Given the description of an element on the screen output the (x, y) to click on. 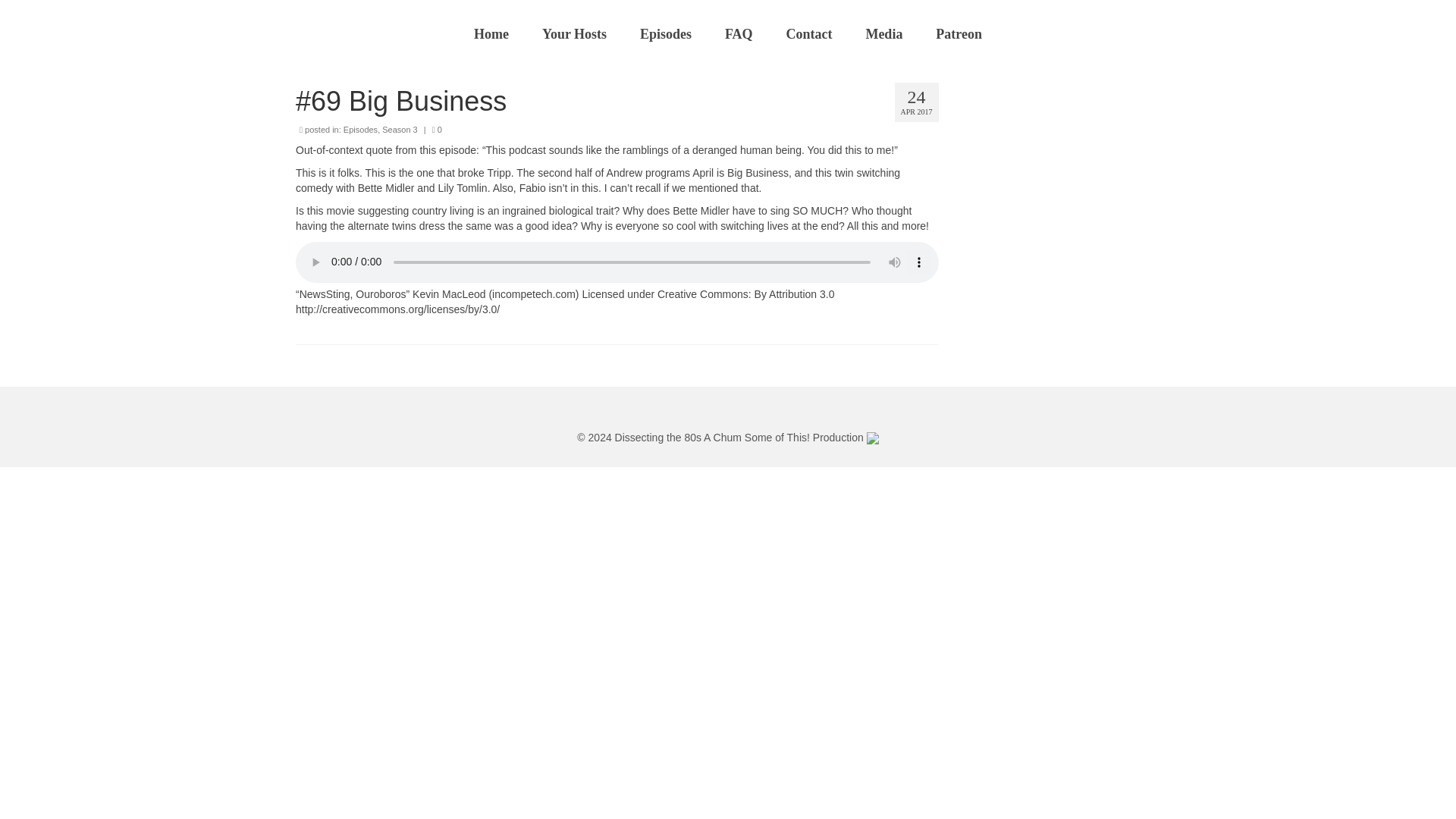
Episodes (665, 33)
Patreon (958, 33)
Season 3 (398, 129)
Home (491, 33)
Media (883, 33)
Your Hosts (574, 33)
FAQ (739, 33)
Episodes (360, 129)
Contact (808, 33)
